Given the description of an element on the screen output the (x, y) to click on. 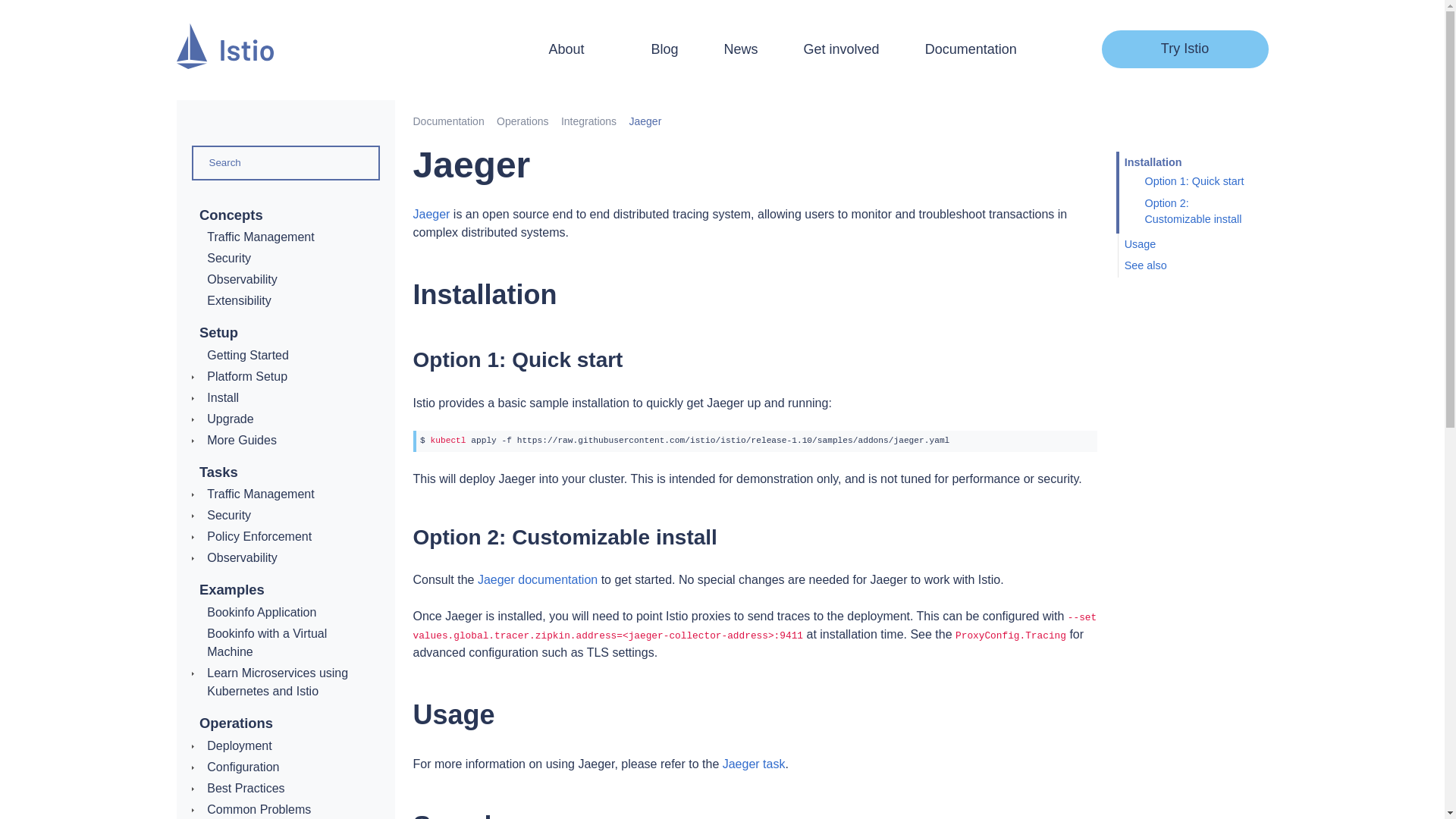
Setup (218, 332)
Security (228, 257)
Blog (664, 49)
Observability (241, 278)
Getting Started (247, 354)
Documentation (970, 49)
Search this site (1051, 49)
Try Istio (1184, 48)
About (576, 49)
Platform Setup (246, 376)
Concepts (231, 214)
